Given the description of an element on the screen output the (x, y) to click on. 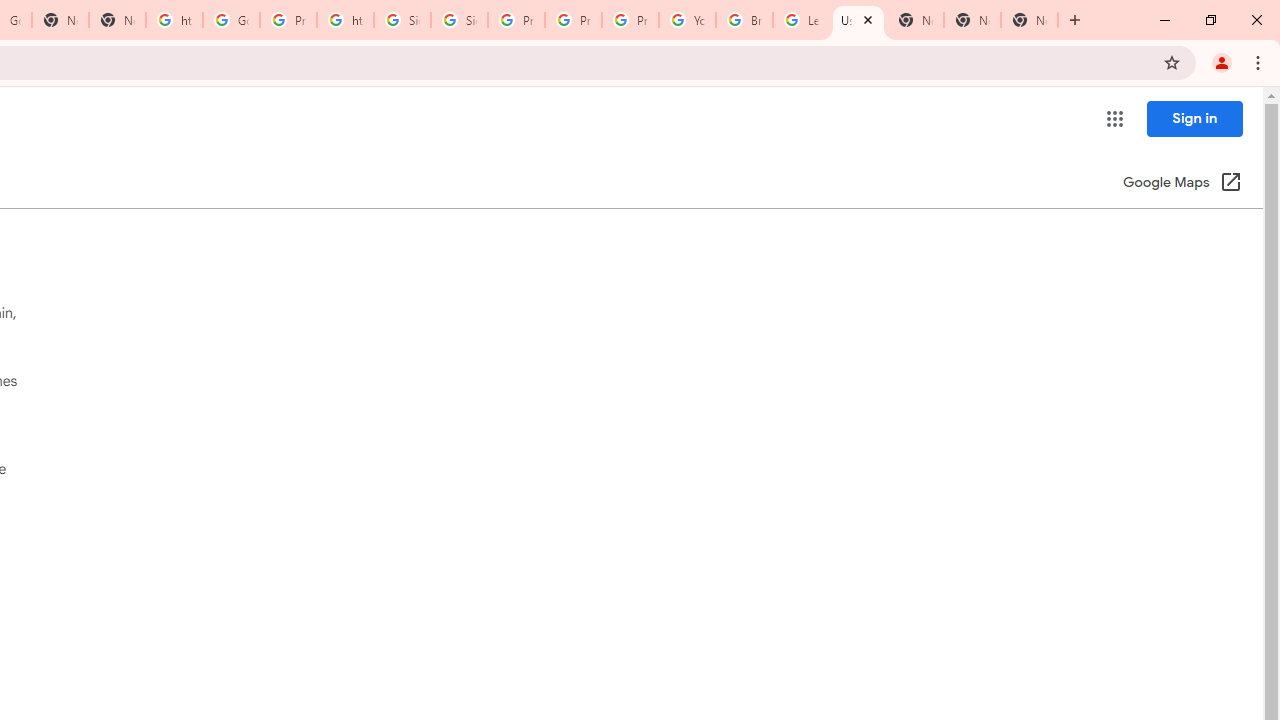
https://scholar.google.com/ (174, 20)
YouTube (687, 20)
New Tab (1029, 20)
Privacy Help Center - Policies Help (516, 20)
Privacy Help Center - Policies Help (573, 20)
Use Google Maps in Space - Google Maps Help (858, 20)
